Given the description of an element on the screen output the (x, y) to click on. 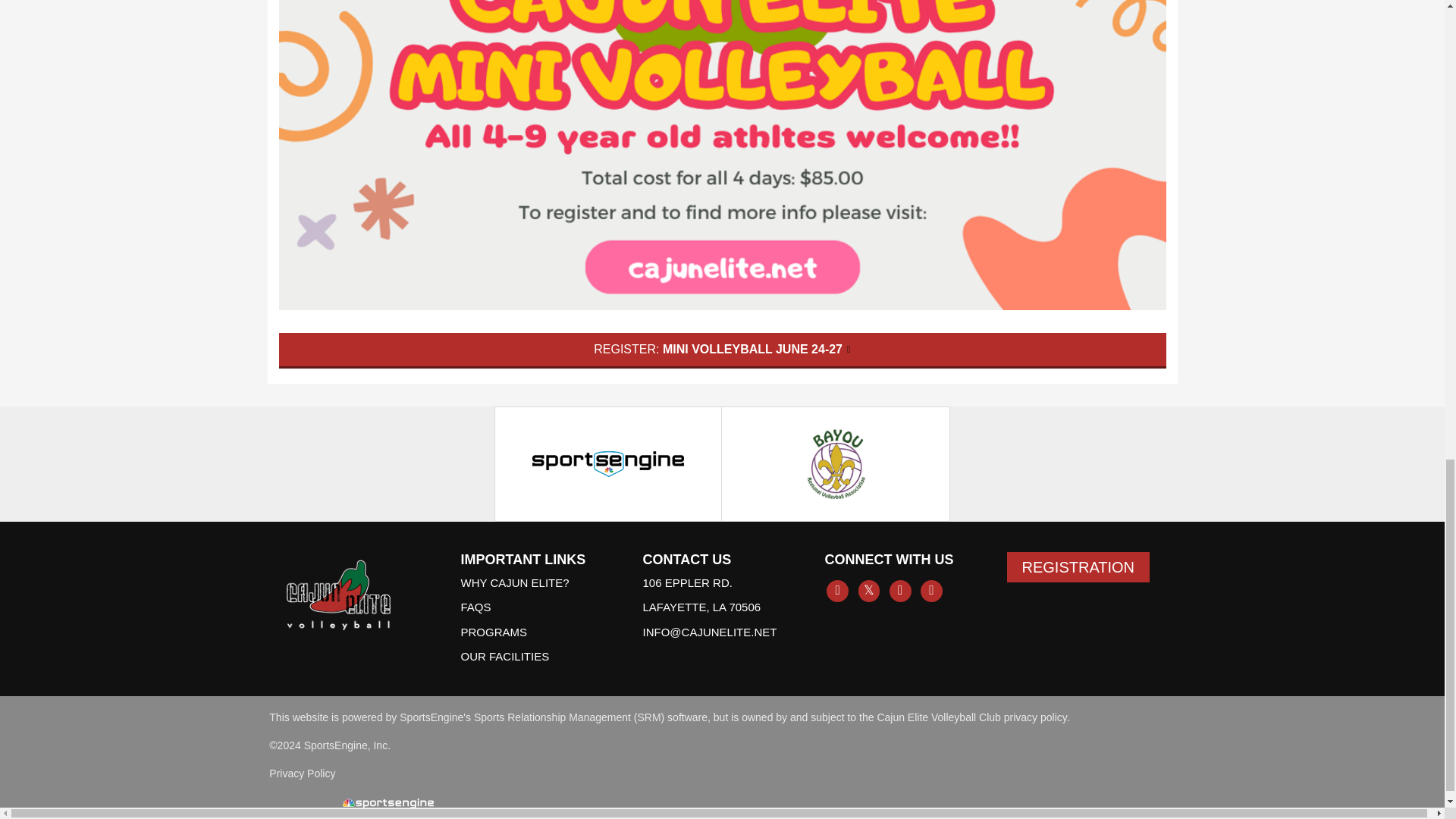
REGISTER: MINI VOLLEYBALL JUNE 24-27 (722, 350)
